Given the description of an element on the screen output the (x, y) to click on. 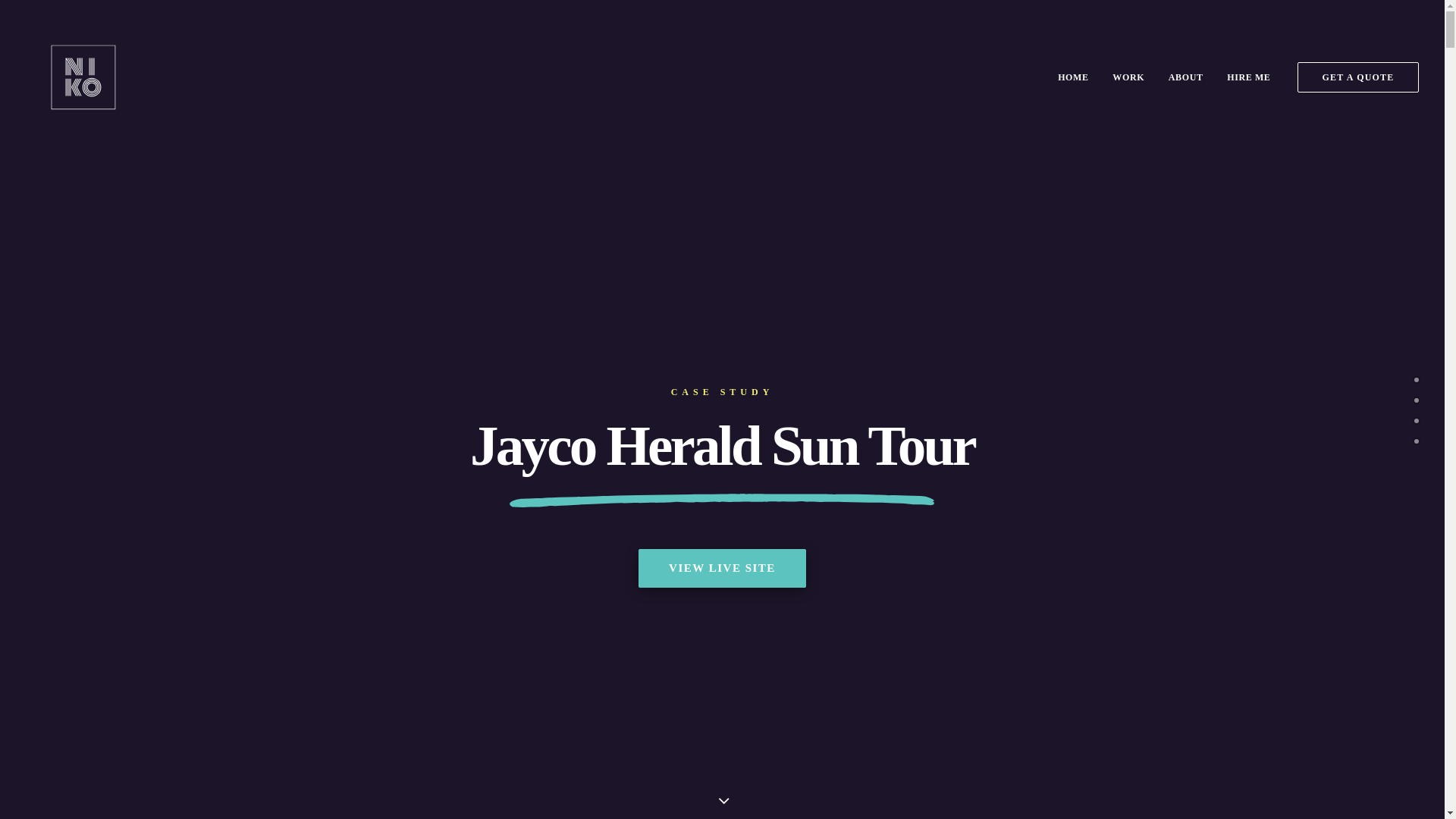
ABOUT Element type: text (1185, 77)
WORK Element type: text (1127, 77)
GET A QUOTE Element type: text (1357, 77)
HOME Element type: text (1072, 77)
VIEW LIVE SITE Element type: text (722, 568)
HIRE ME Element type: text (1243, 77)
